Given the description of an element on the screen output the (x, y) to click on. 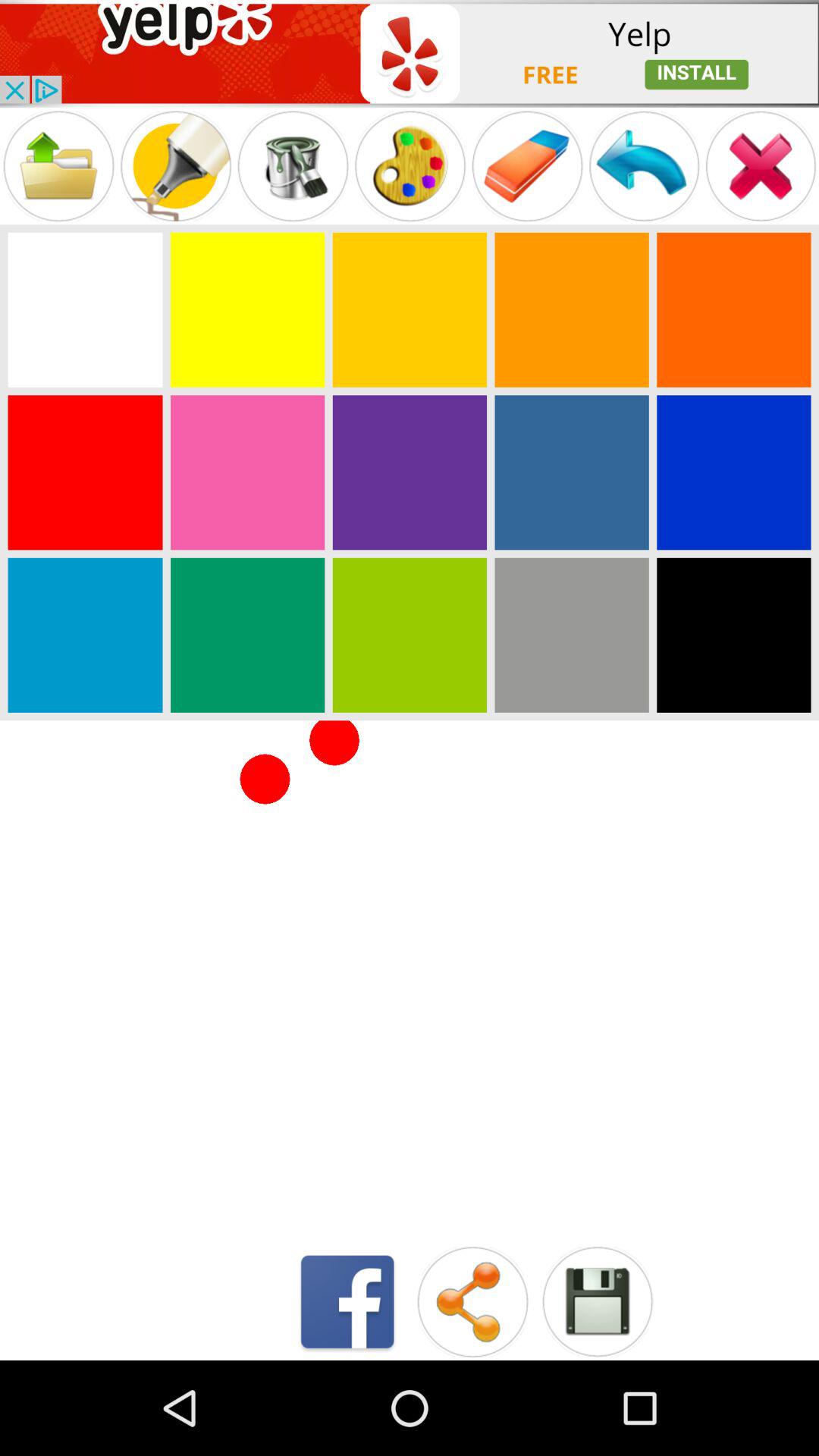
save (597, 1301)
